Given the description of an element on the screen output the (x, y) to click on. 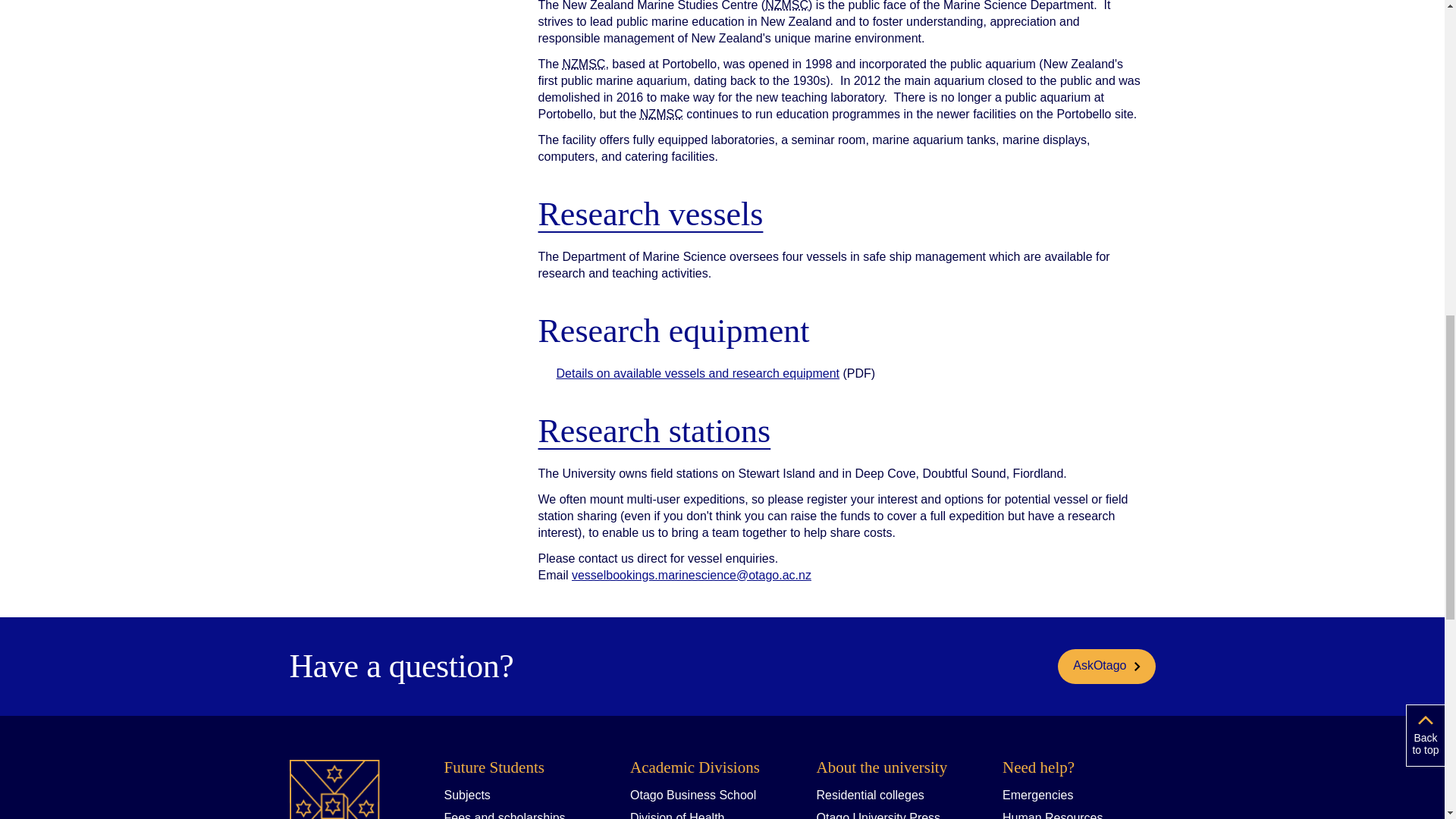
New Zealand Marine Studies Centre (786, 5)
New Zealand Marine Studies Centre (583, 63)
New Zealand Marine Studies Centre (661, 113)
